Given the description of an element on the screen output the (x, y) to click on. 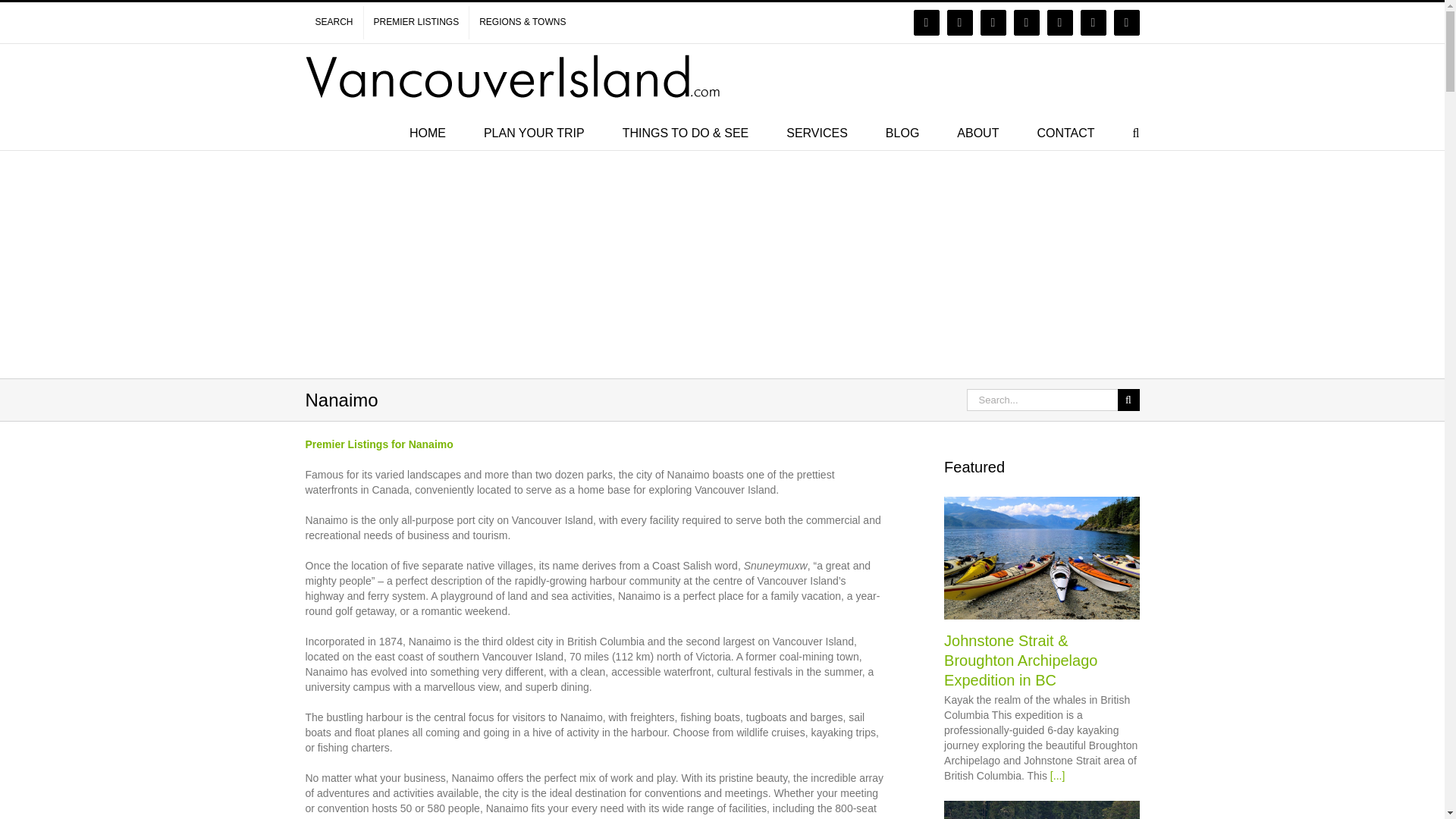
SEARCH (333, 22)
Pinterest (1093, 22)
Twitter (992, 22)
Flickr (959, 22)
YouTube (1026, 22)
Facebook (926, 22)
Tumblr (1126, 22)
SERVICES (816, 131)
Search (1136, 131)
How to reach us (1065, 131)
Instagram (1059, 22)
PLAN YOUR TRIP (534, 131)
HOME (427, 131)
PREMIER LISTINGS (416, 22)
